Given the description of an element on the screen output the (x, y) to click on. 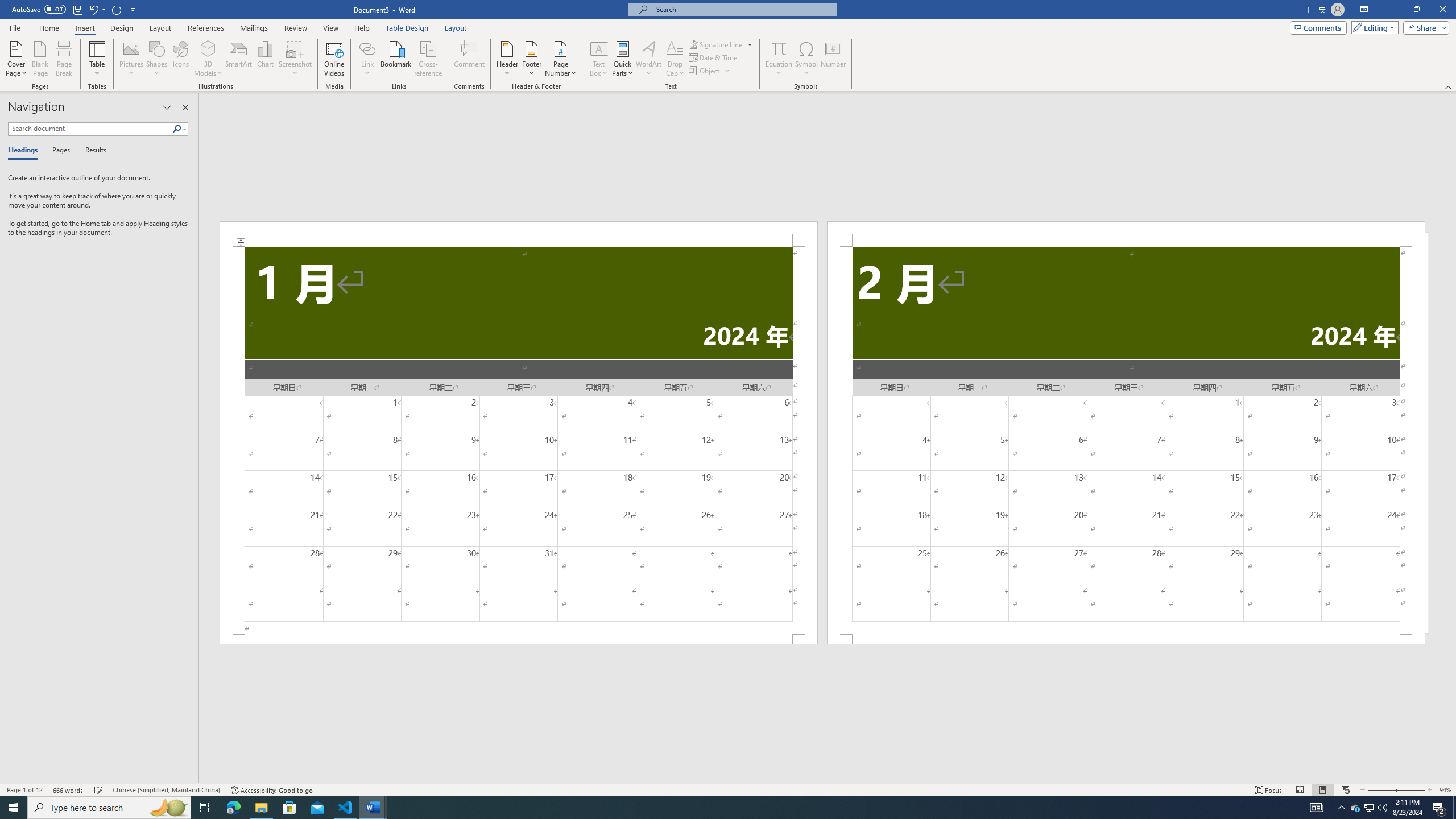
Online Videos... (333, 58)
Footer (531, 58)
Undo Increase Indent (96, 9)
3D Models (208, 58)
Chart... (265, 58)
Object... (705, 69)
